Given the description of an element on the screen output the (x, y) to click on. 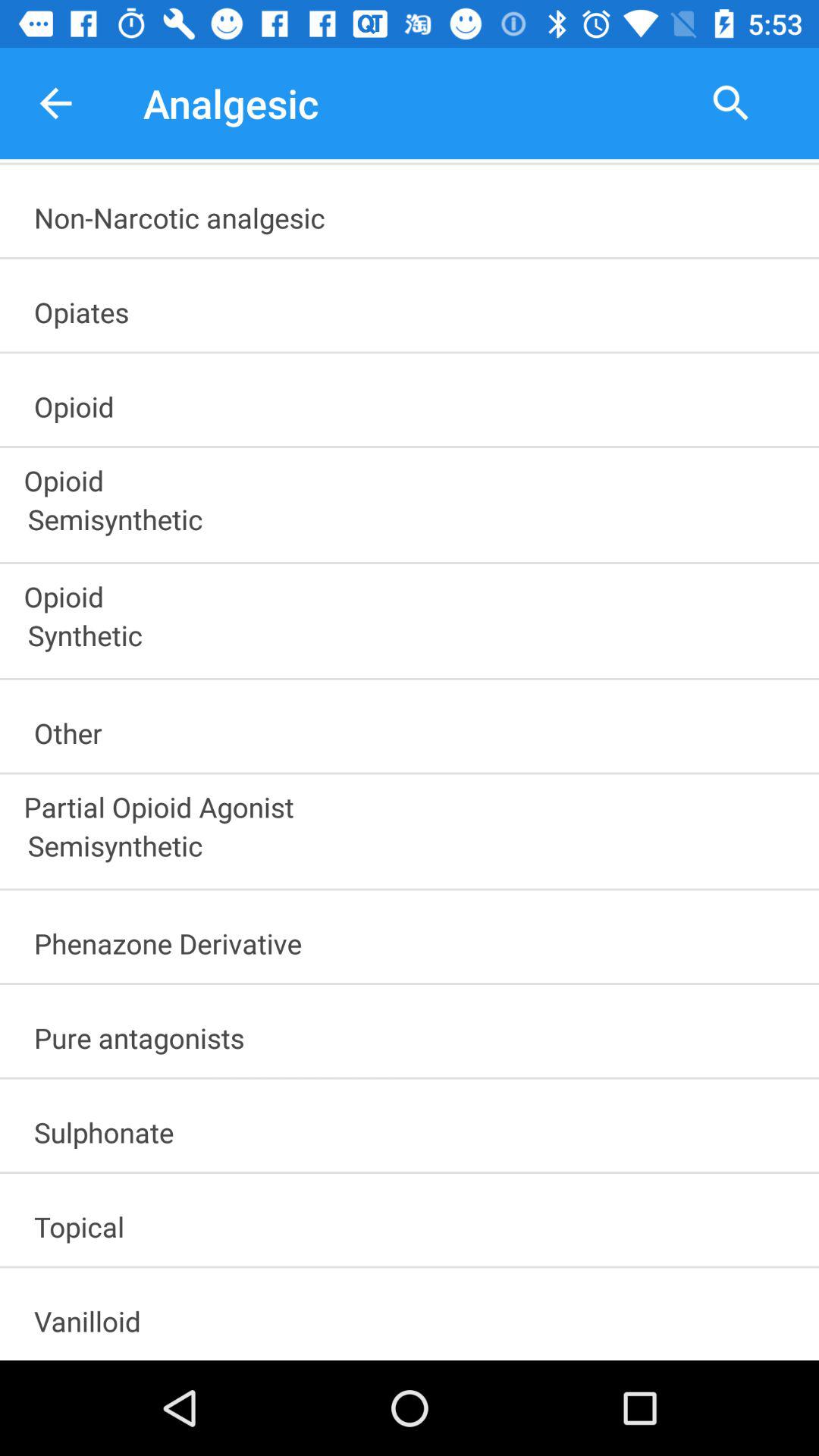
open other icon (416, 728)
